Given the description of an element on the screen output the (x, y) to click on. 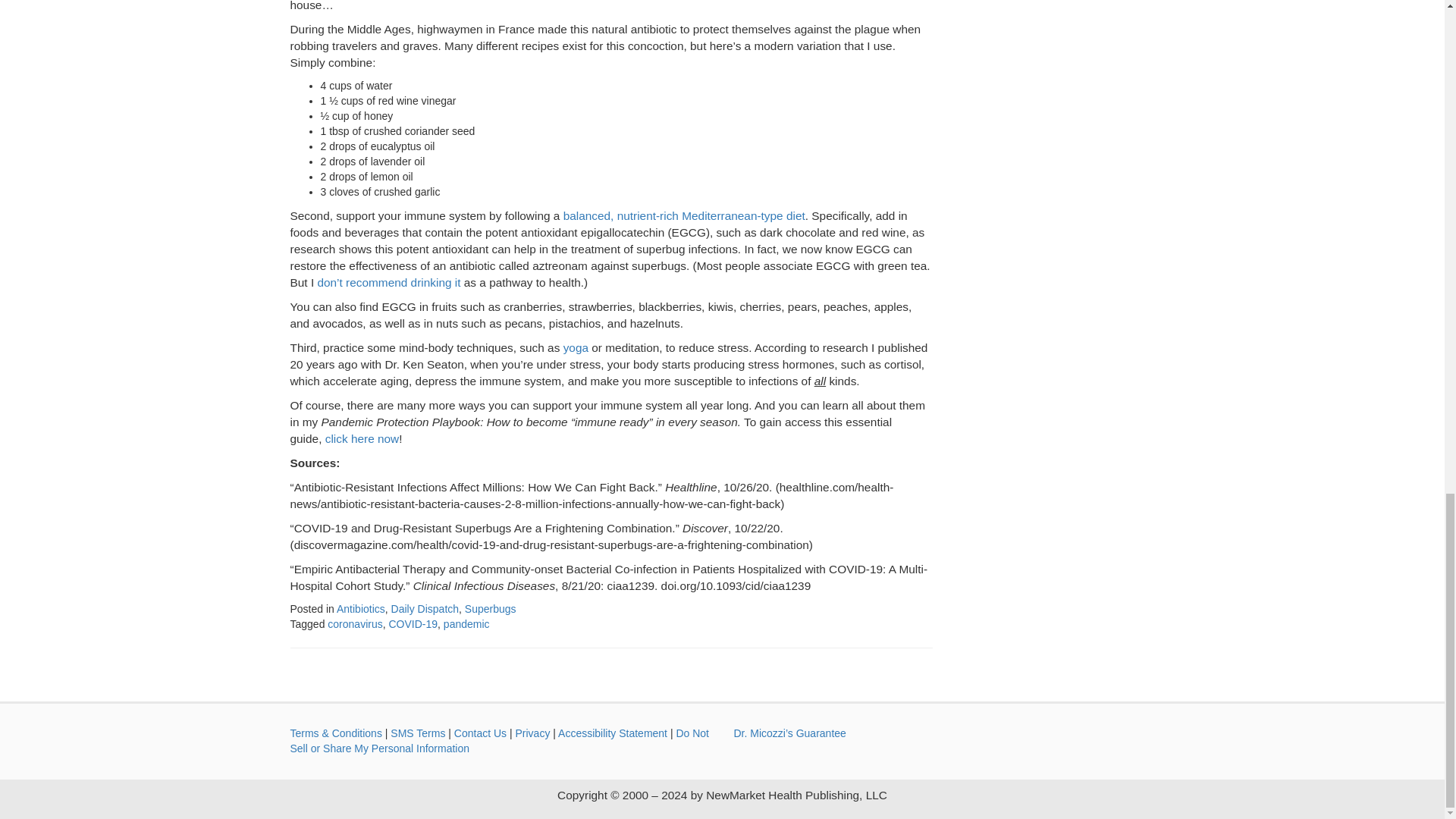
click here now (361, 438)
COVID-19 (413, 623)
Privacy (532, 733)
SMS Terms (417, 733)
Accessibility Statement (611, 733)
yoga (575, 347)
pandemic (466, 623)
balanced, nutrient-rich Mediterranean-type diet (684, 215)
Daily Dispatch (424, 608)
Contact Us (480, 733)
